Given the description of an element on the screen output the (x, y) to click on. 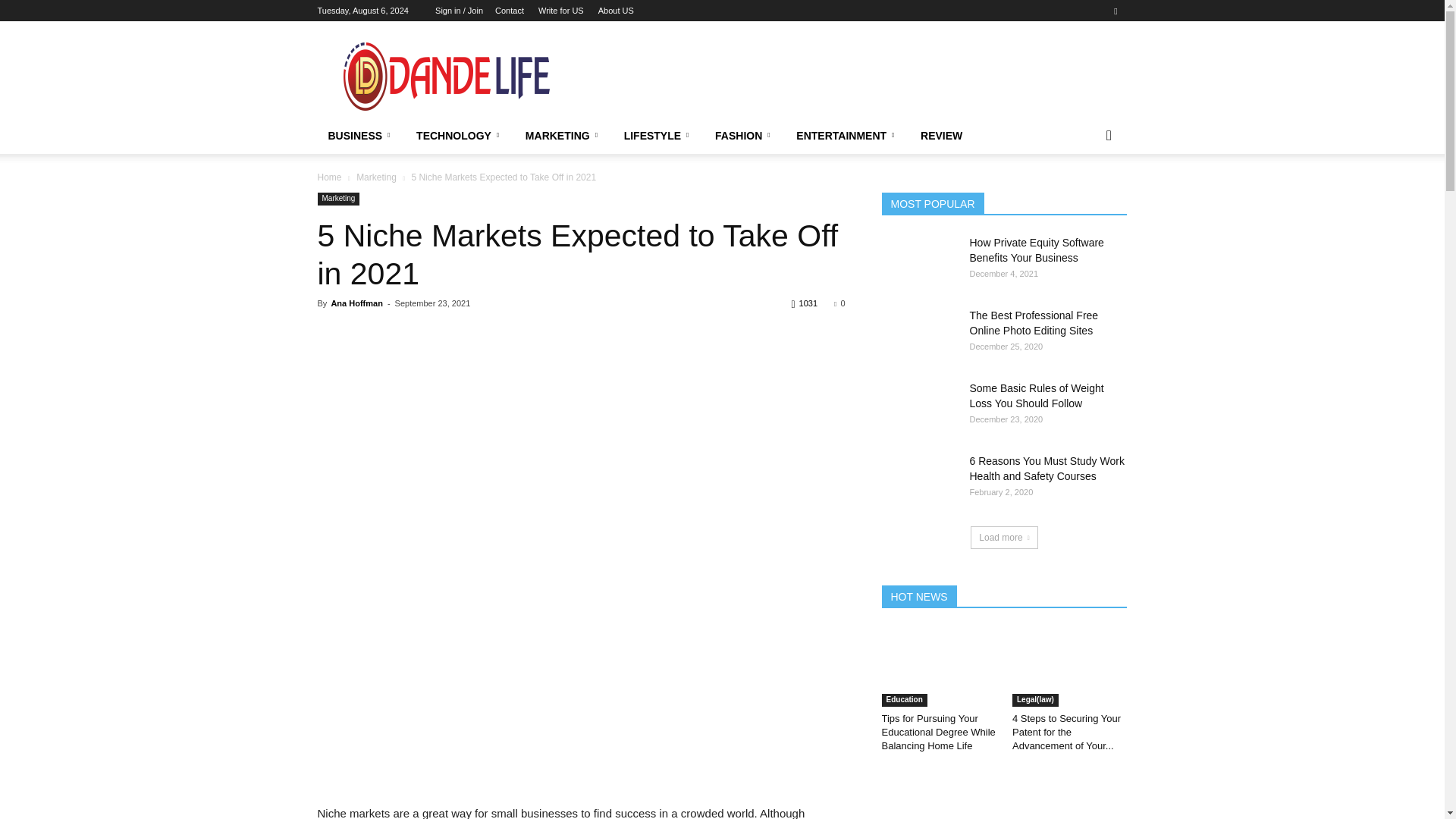
View all posts in Marketing (376, 176)
Facebook (1114, 10)
